Given the description of an element on the screen output the (x, y) to click on. 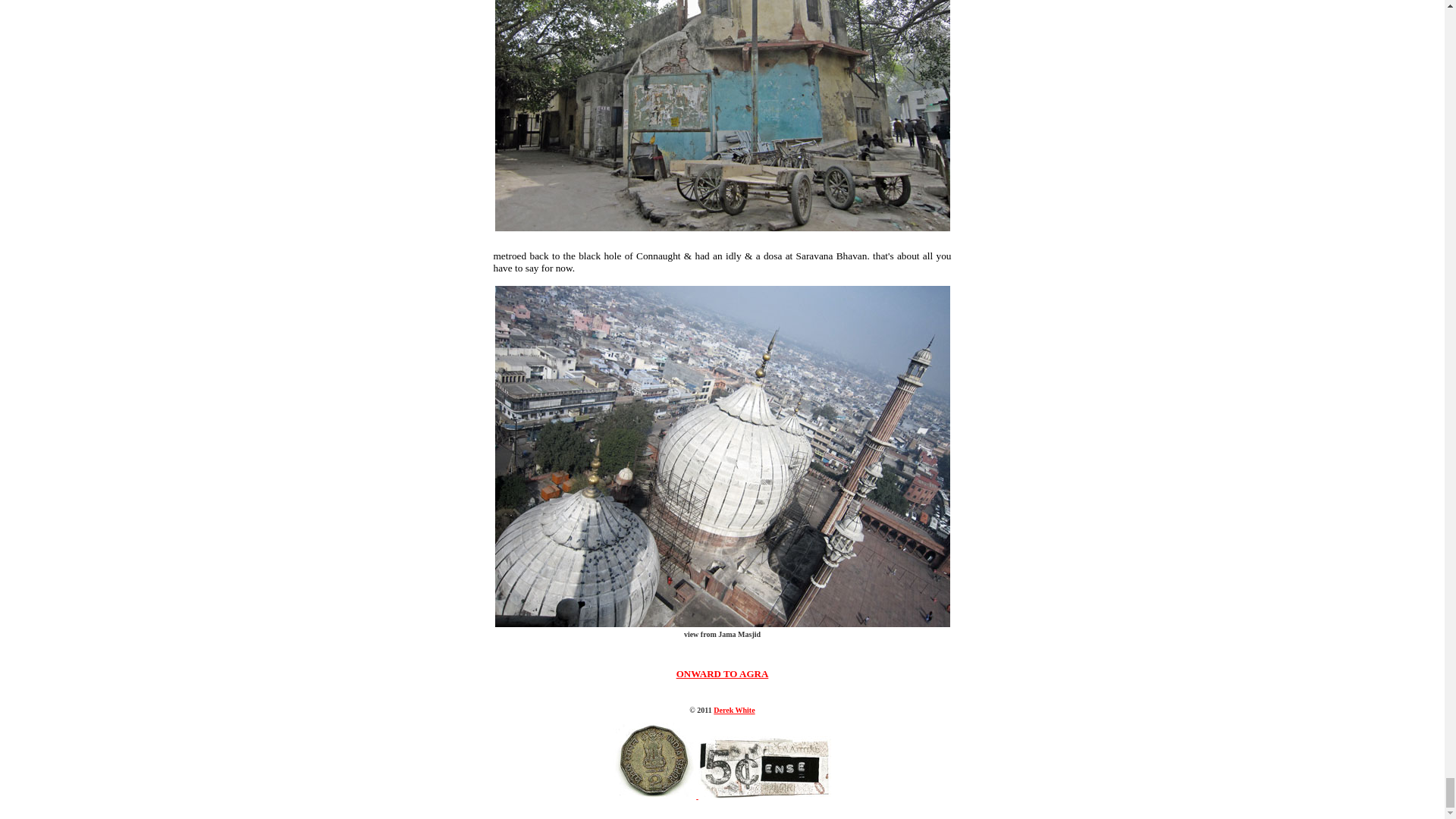
Derek White (733, 709)
ONWARD TO AGRA (722, 673)
